Given the description of an element on the screen output the (x, y) to click on. 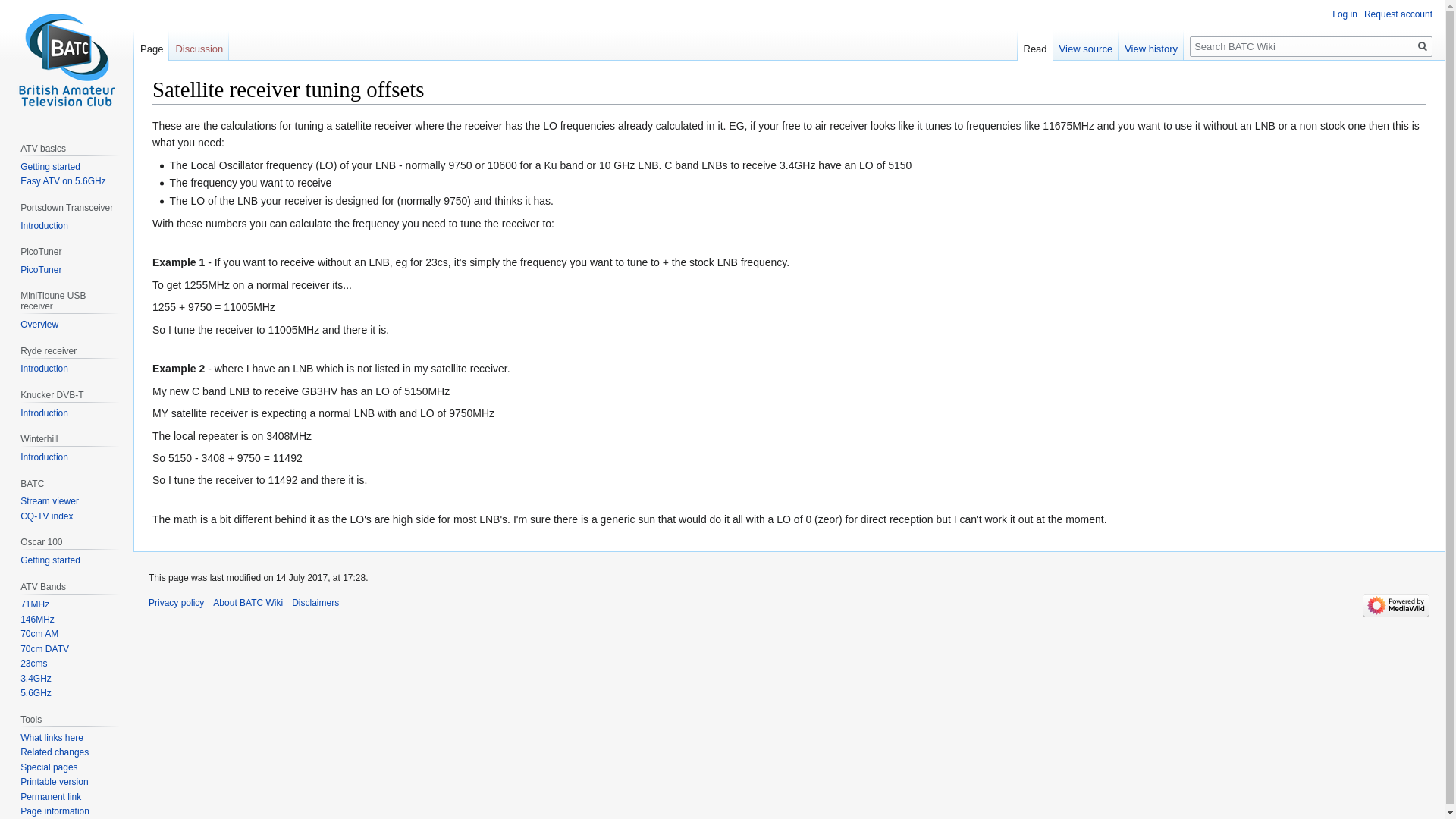
Introduction (44, 225)
Getting started (50, 560)
70cm DATV (44, 648)
Introduction (44, 412)
View history (1150, 45)
Introduction (44, 457)
Search pages for this text (1422, 46)
Printable version (53, 781)
More information about this page (54, 810)
Special pages (48, 767)
